Given the description of an element on the screen output the (x, y) to click on. 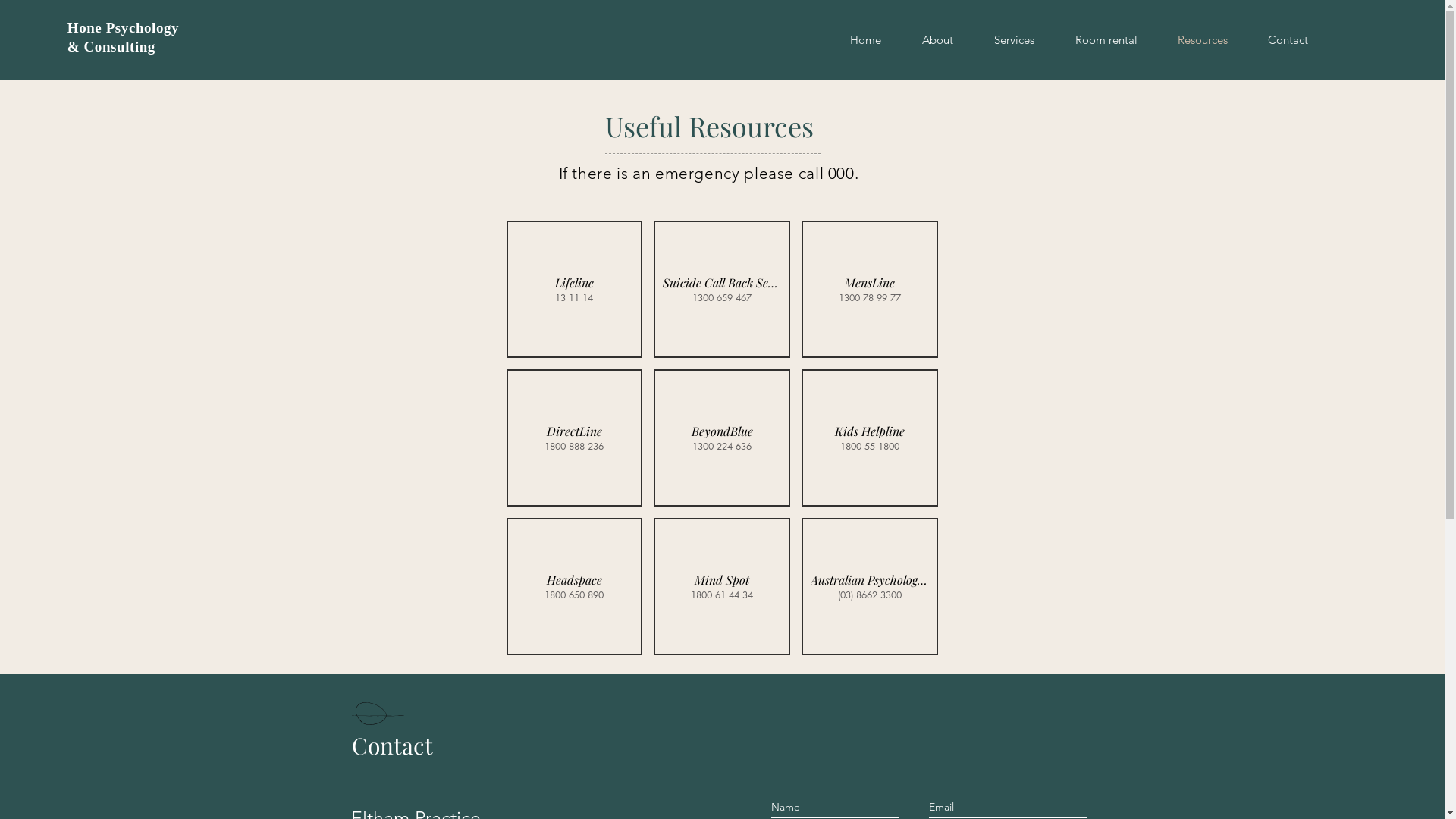
About Element type: text (937, 39)
Contact Element type: text (1287, 39)
Services Element type: text (1013, 39)
Resources Element type: text (1202, 39)
Home Element type: text (865, 39)
Room rental Element type: text (1105, 39)
